Given the description of an element on the screen output the (x, y) to click on. 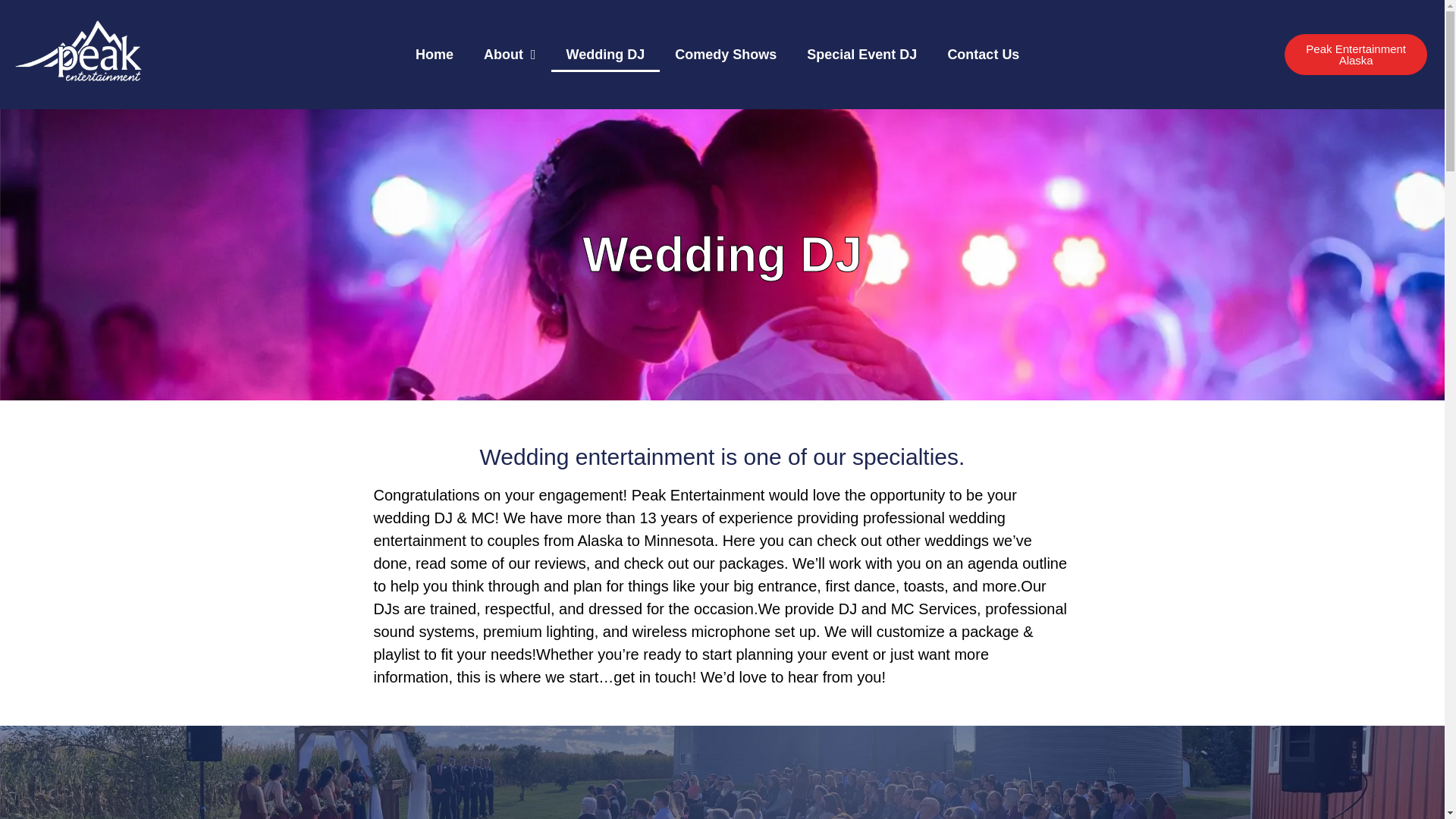
Wedding DJ (606, 54)
Peak Entertainment Alaska (1356, 54)
Contact Us (982, 54)
Special Event DJ (861, 54)
About (509, 54)
Comedy Shows (725, 54)
Home (434, 54)
